Given the description of an element on the screen output the (x, y) to click on. 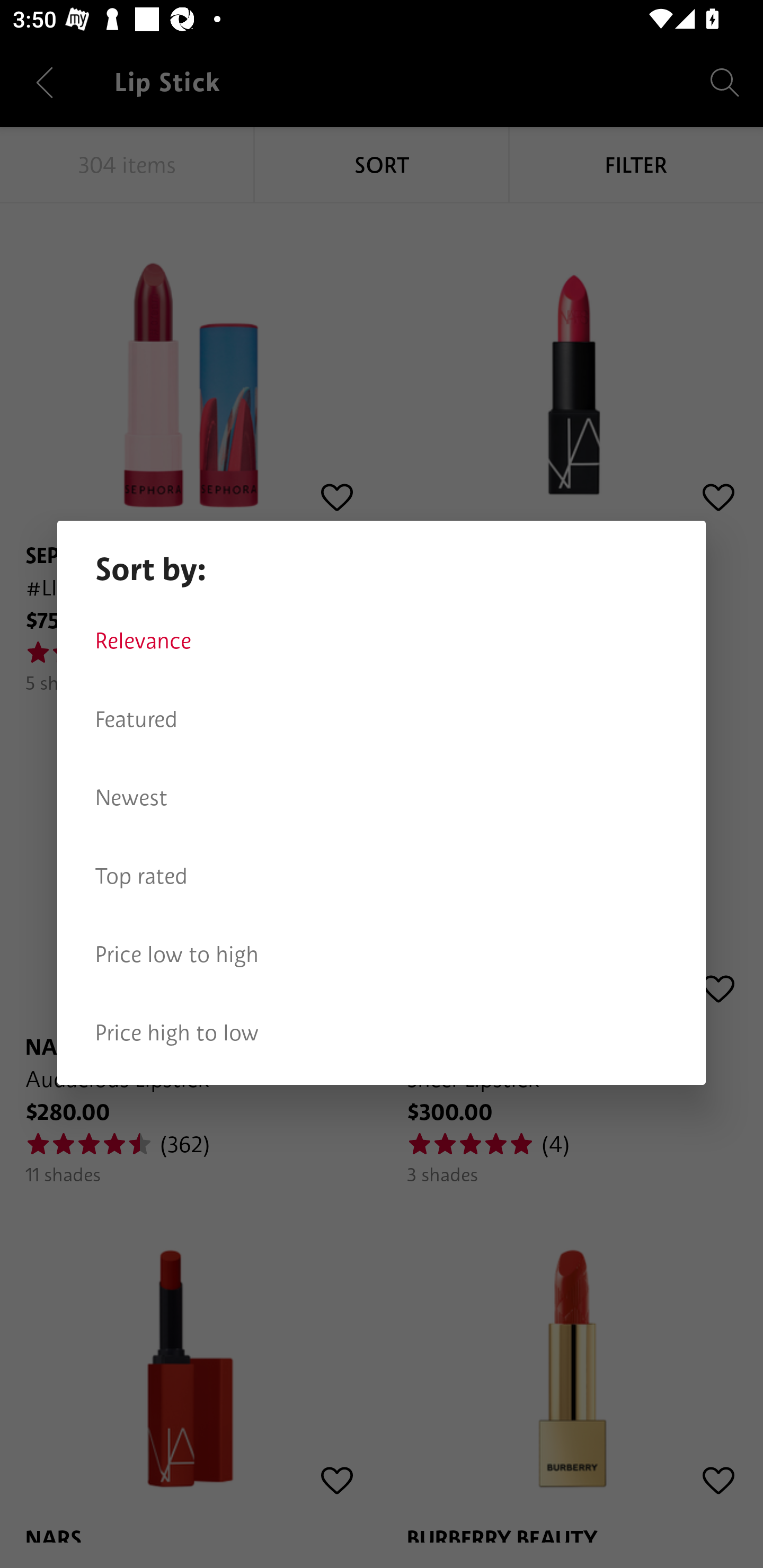
Relevance (381, 641)
Featured (381, 719)
Newest (381, 797)
Top rated (381, 876)
Price low to high (381, 954)
Price high to low (381, 1033)
